Given the description of an element on the screen output the (x, y) to click on. 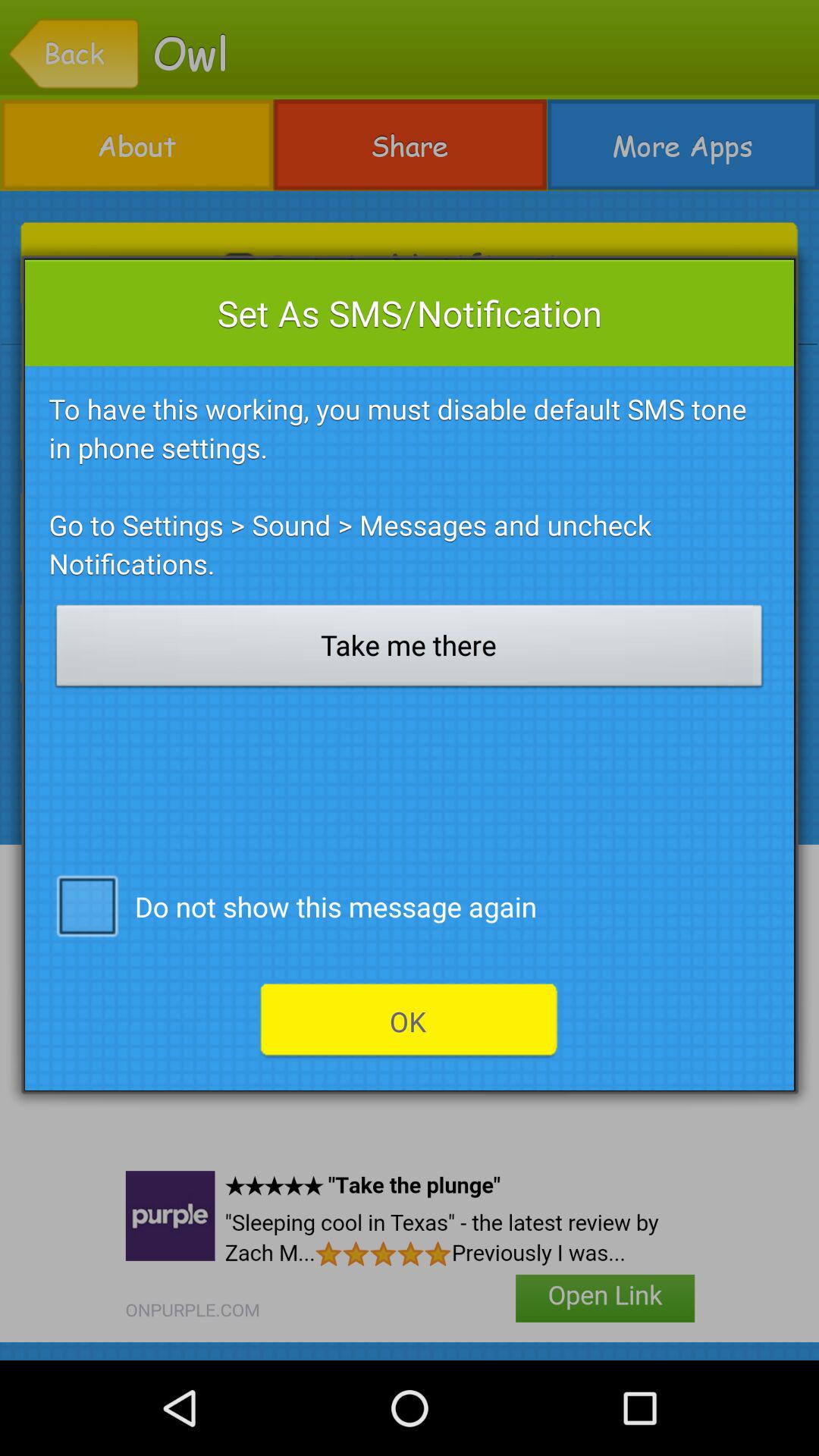
tap the icon at the bottom (408, 1021)
